Given the description of an element on the screen output the (x, y) to click on. 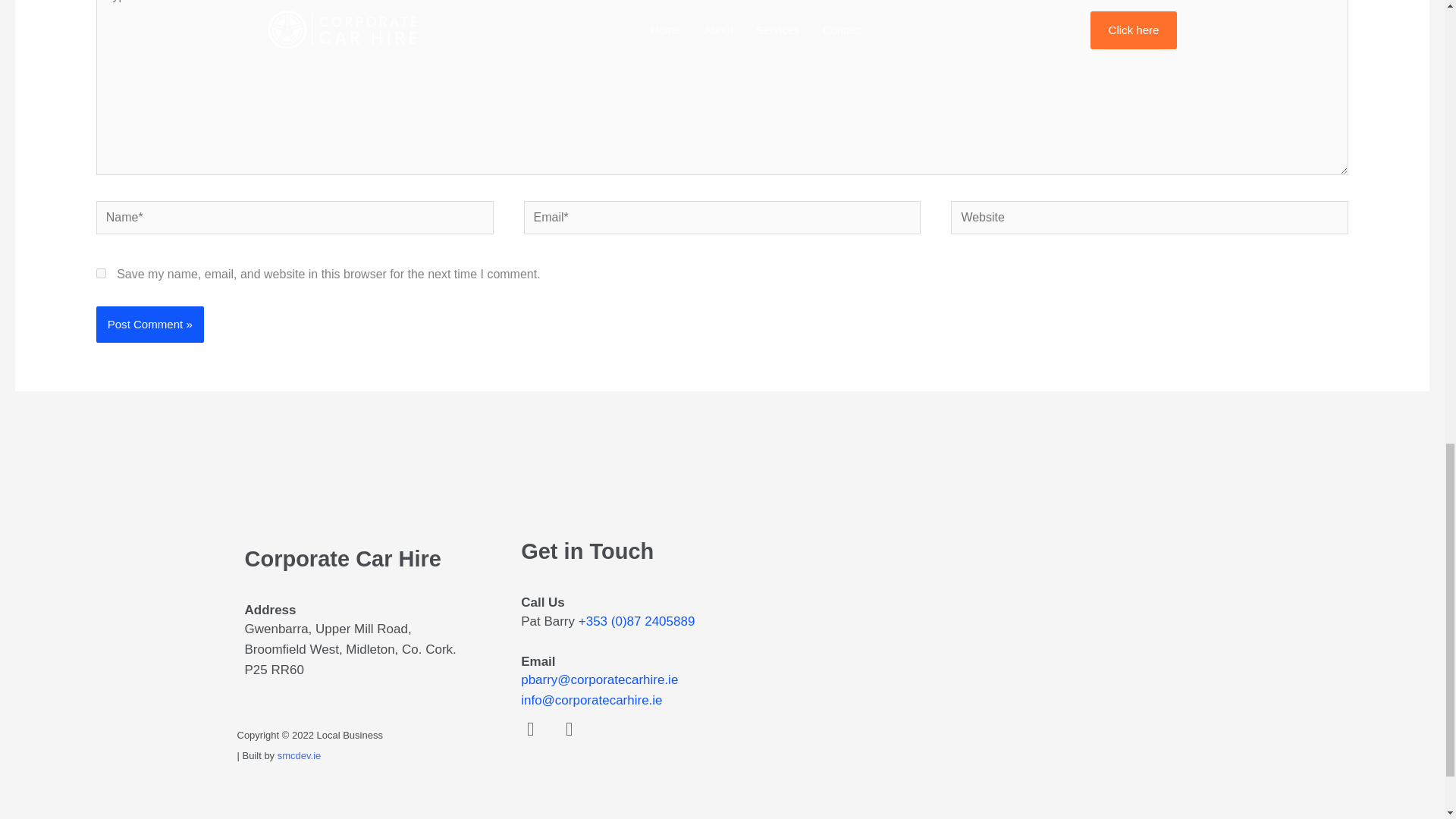
smcdev.ie (299, 755)
yes (101, 273)
